Given the description of an element on the screen output the (x, y) to click on. 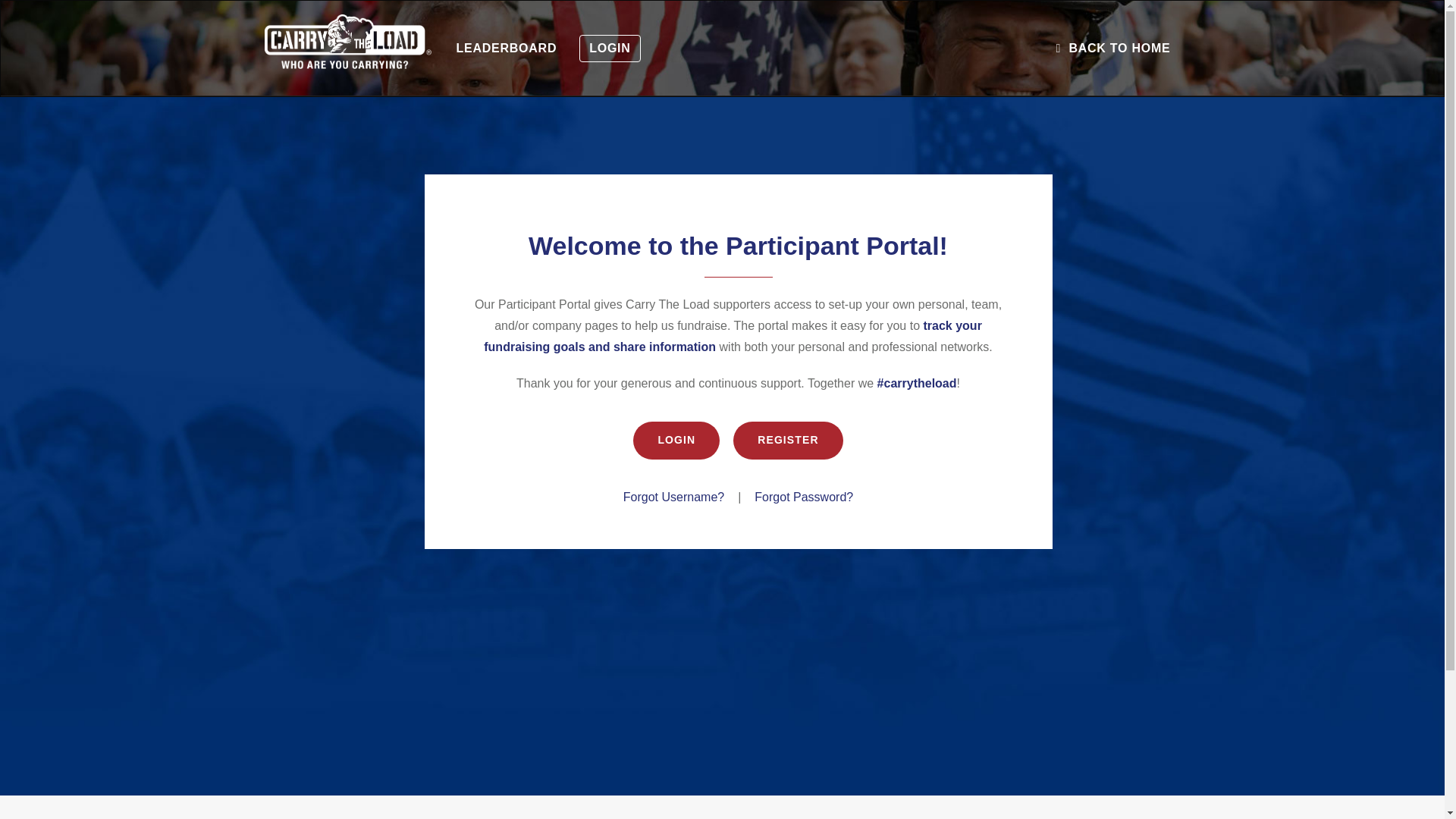
Forgot Username? (673, 496)
REGISTER (788, 440)
LEADERBOARD (505, 47)
LOGIN (676, 440)
Forgot Password? (803, 496)
  BACK TO HOME (1111, 47)
LOGIN (609, 49)
